Given the description of an element on the screen output the (x, y) to click on. 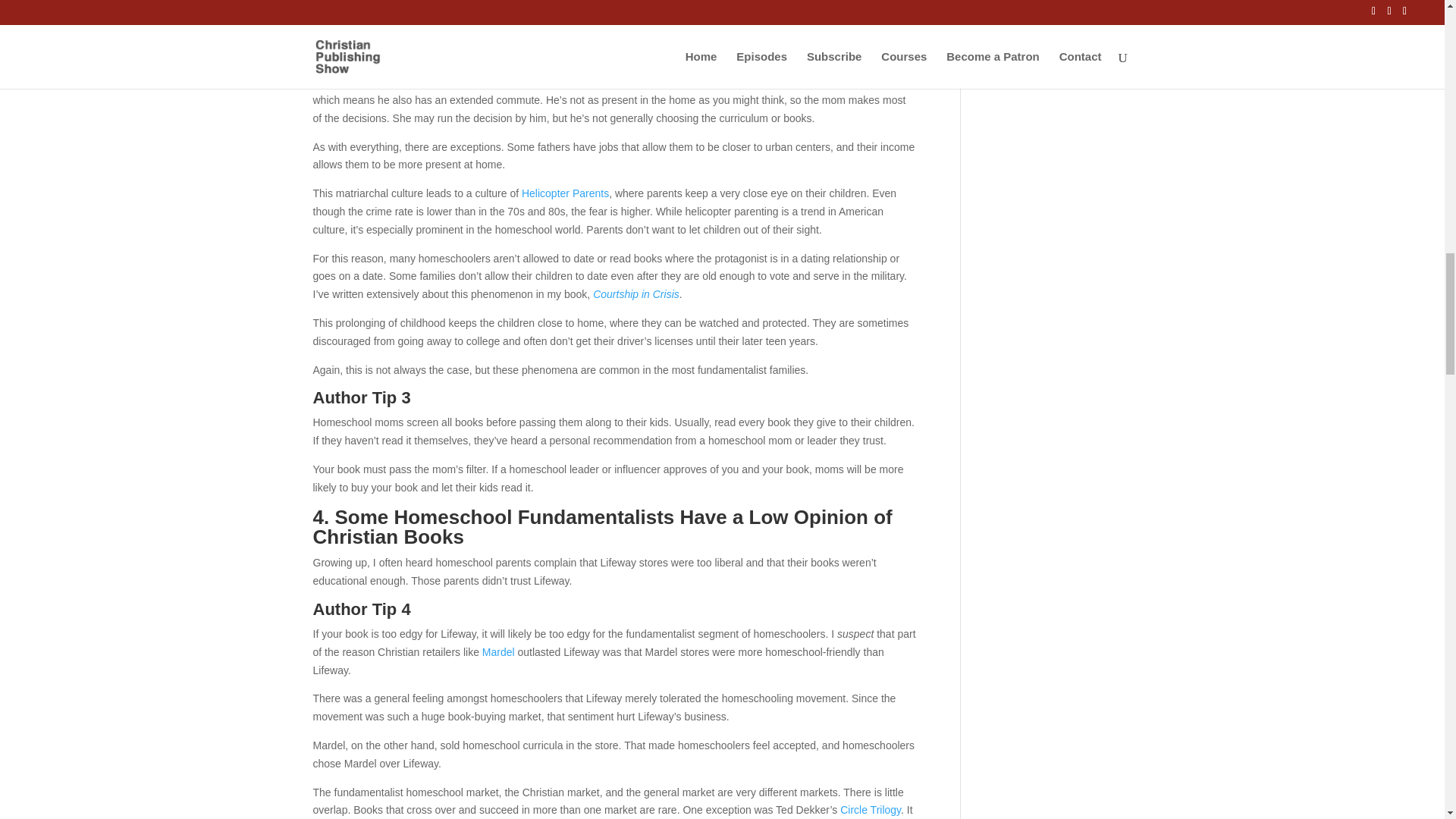
Mardel (498, 652)
Courtship in Crisis (635, 294)
Helicopter Parents (564, 193)
Circle Trilogy (870, 809)
